Given the description of an element on the screen output the (x, y) to click on. 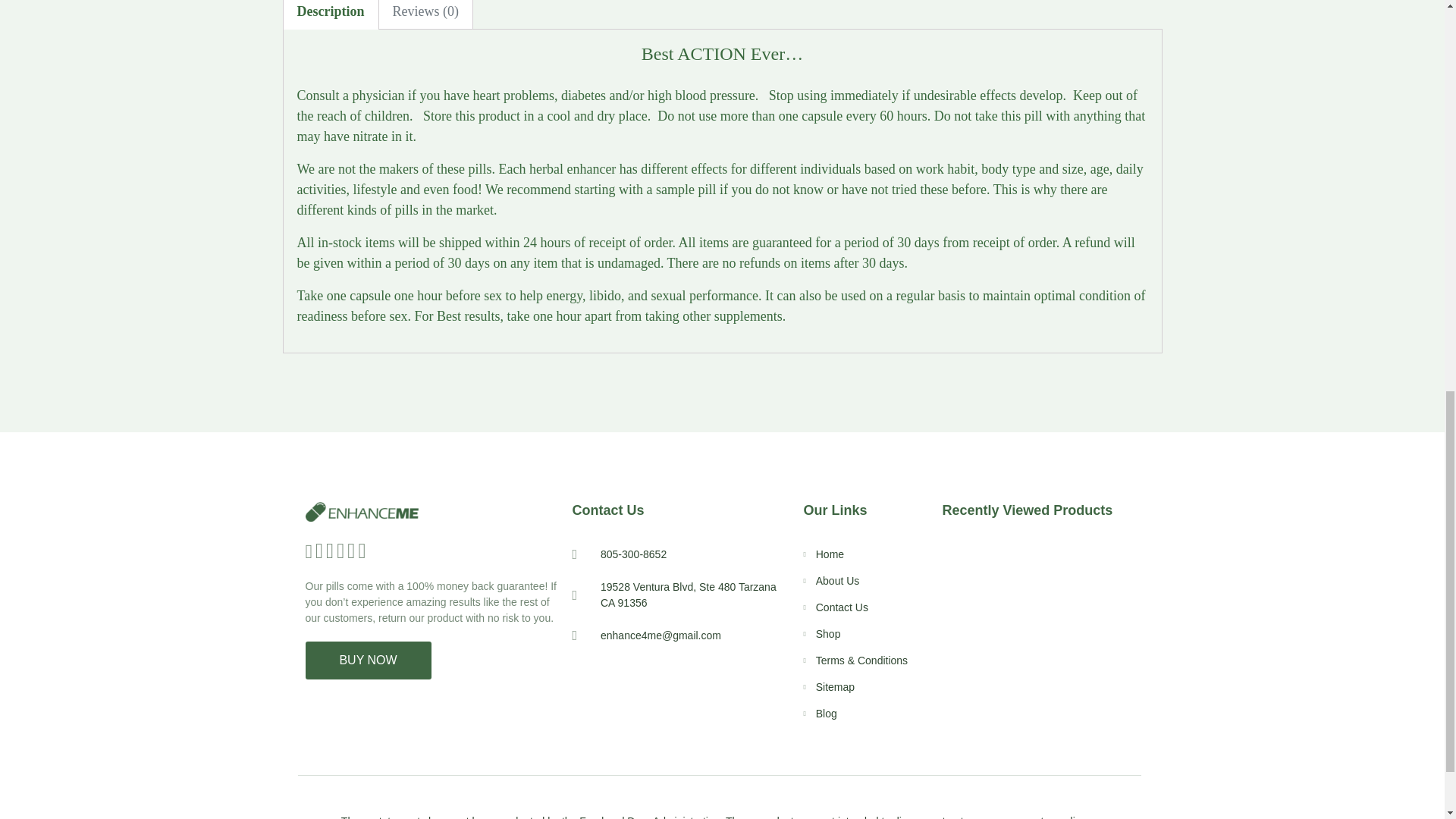
Sitemap (864, 687)
BUY NOW (367, 660)
Home (864, 554)
About Us (864, 580)
Shop (864, 634)
Contact Us (864, 607)
Description (331, 14)
